Given the description of an element on the screen output the (x, y) to click on. 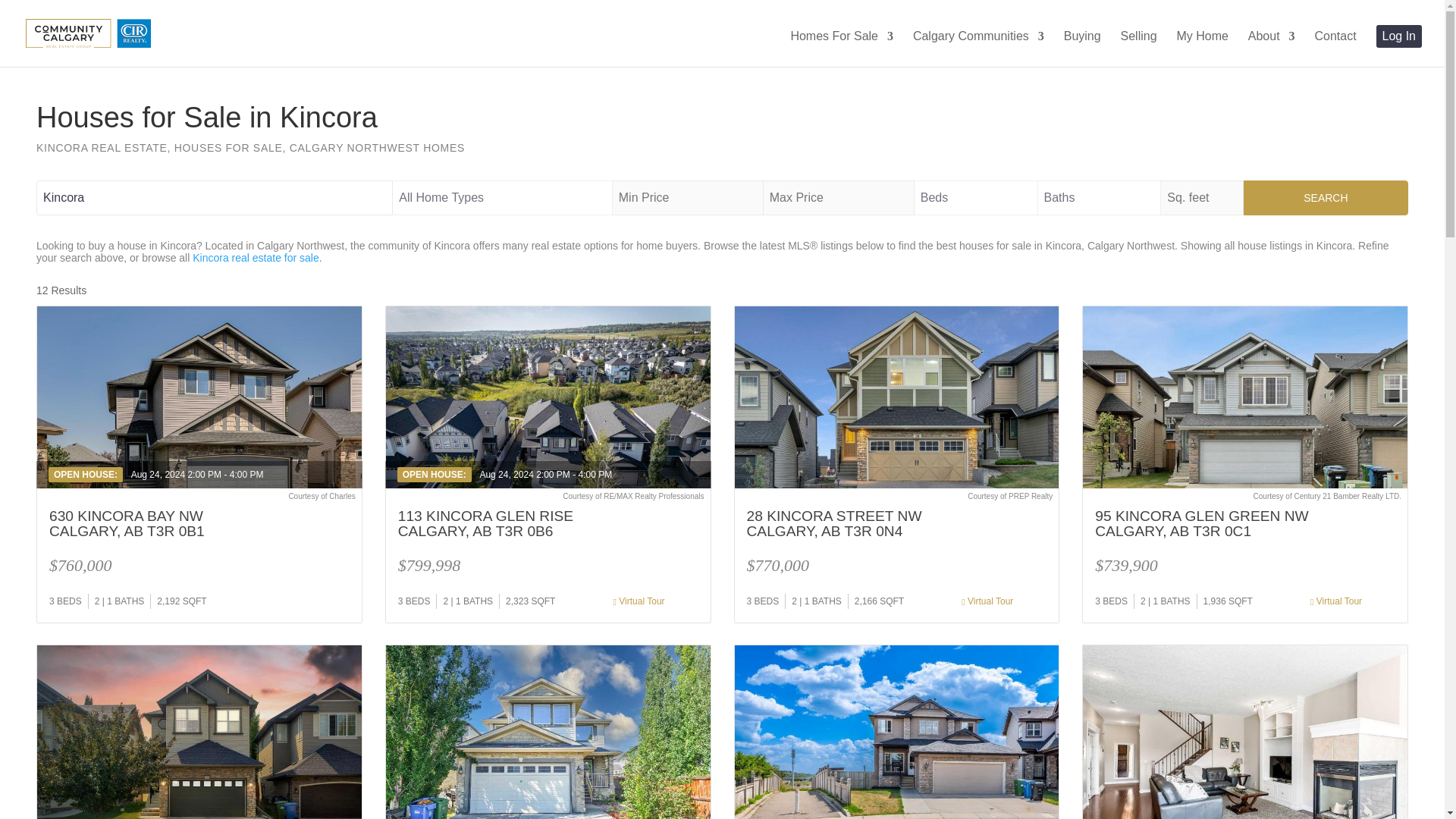
Calgary Communities (977, 48)
My Home (1201, 48)
Buying (1082, 48)
Kincora (214, 197)
Selling (1139, 48)
Homes For Sale (841, 48)
Kincora (214, 197)
